Given the description of an element on the screen output the (x, y) to click on. 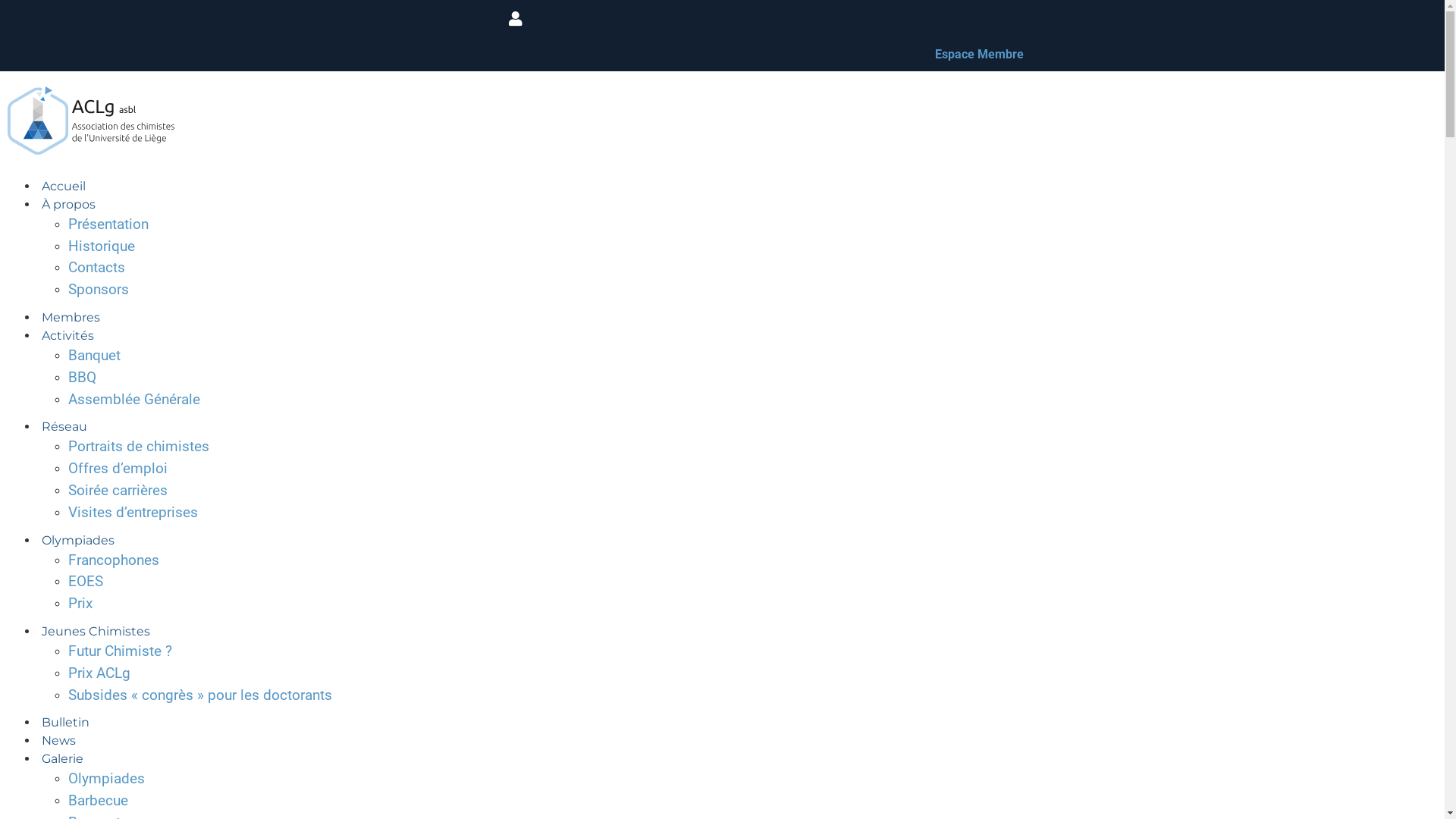
Futur Chimiste ? Element type: text (120, 650)
Bulletin Element type: text (65, 721)
Olympiades Element type: text (77, 539)
BBQ Element type: text (82, 376)
Olympiades Element type: text (106, 778)
Contacts Element type: text (96, 267)
Banquet Element type: text (94, 355)
Historique Element type: text (101, 245)
News Element type: text (58, 740)
Galerie Element type: text (62, 758)
EOES Element type: text (85, 580)
Francophones Element type: text (113, 559)
Espace Membre Element type: text (979, 54)
Prix Element type: text (80, 602)
Membres Element type: text (70, 316)
Portraits de chimistes Element type: text (138, 446)
Accueil Element type: text (63, 185)
Barbecue Element type: text (98, 800)
Jeunes Chimistes Element type: text (95, 630)
Prix ACLg Element type: text (99, 672)
Sponsors Element type: text (98, 289)
